Given the description of an element on the screen output the (x, y) to click on. 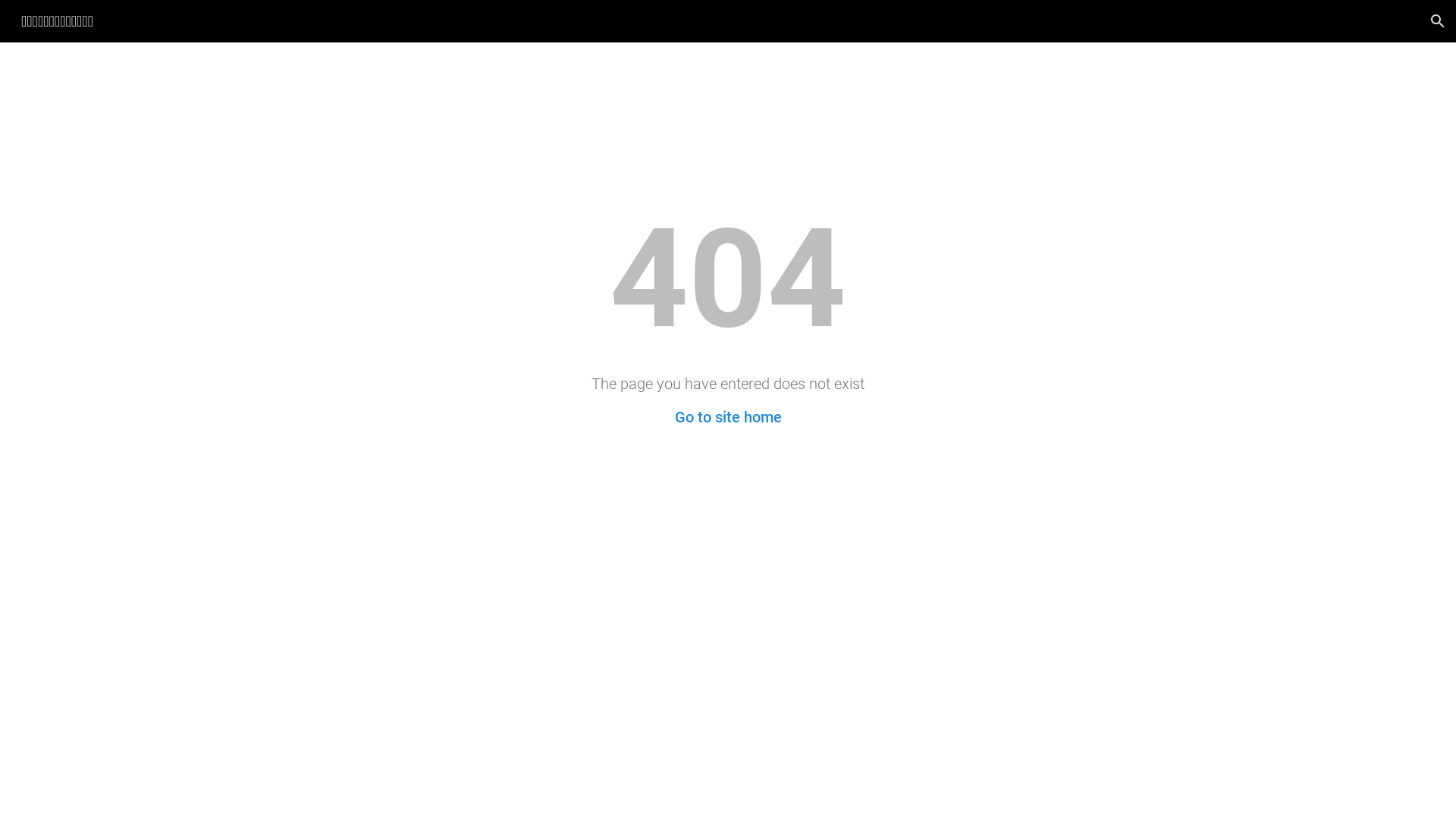
Go to site home Element type: text (727, 416)
